Given the description of an element on the screen output the (x, y) to click on. 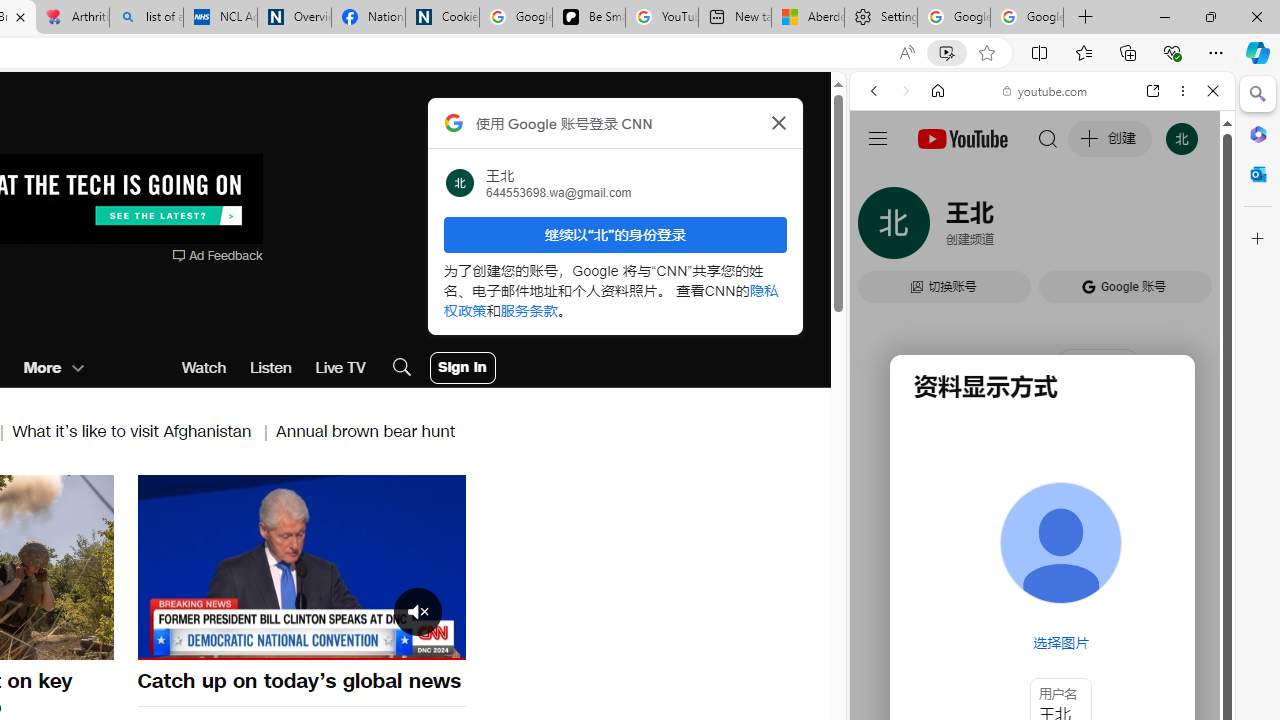
Unmute (164, 642)
User Account Log In Button (462, 367)
Class: Bz112c Bz112c-r9oPif (778, 122)
